Given the description of an element on the screen output the (x, y) to click on. 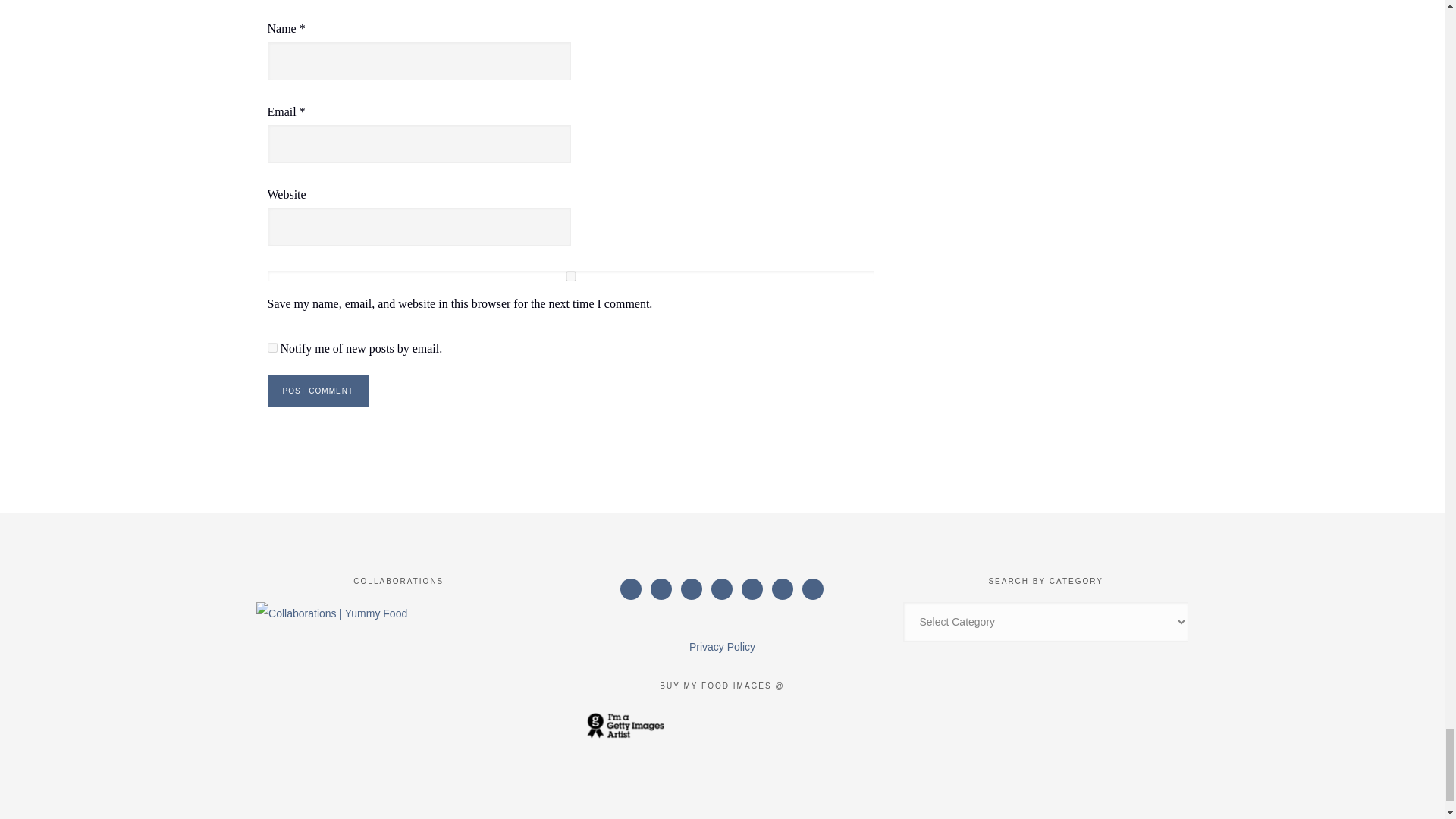
yes (569, 276)
Post Comment (317, 390)
subscribe (271, 347)
